Given the description of an element on the screen output the (x, y) to click on. 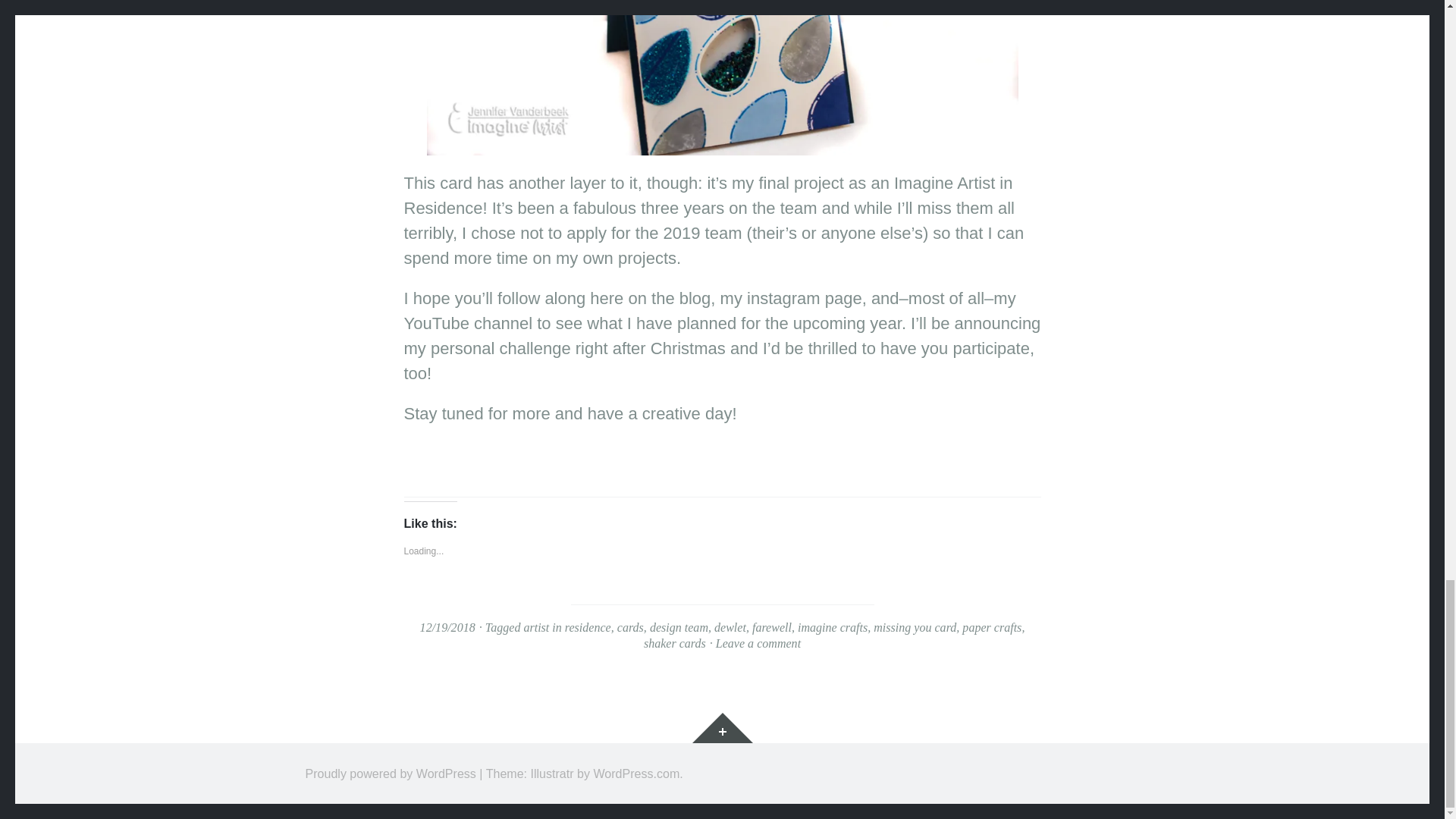
artist in residence (566, 626)
dewlet (729, 626)
shaker cards (674, 643)
paper crafts (992, 626)
farewell (772, 626)
design team (678, 626)
cards (630, 626)
missing you card (914, 626)
imagine crafts (832, 626)
